Given the description of an element on the screen output the (x, y) to click on. 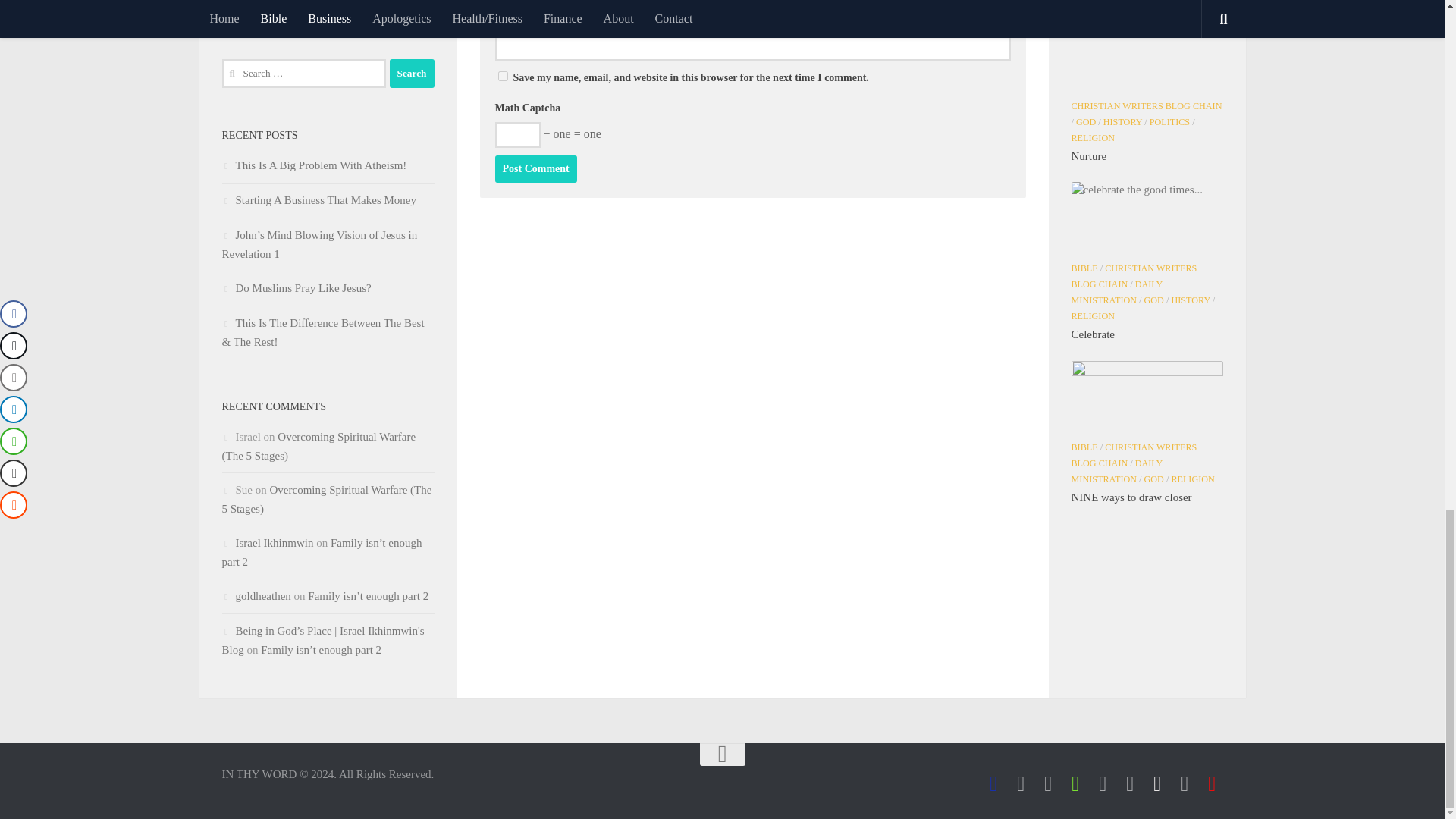
Search (411, 72)
yes (501, 76)
Search (411, 72)
Post Comment (535, 168)
